Given the description of an element on the screen output the (x, y) to click on. 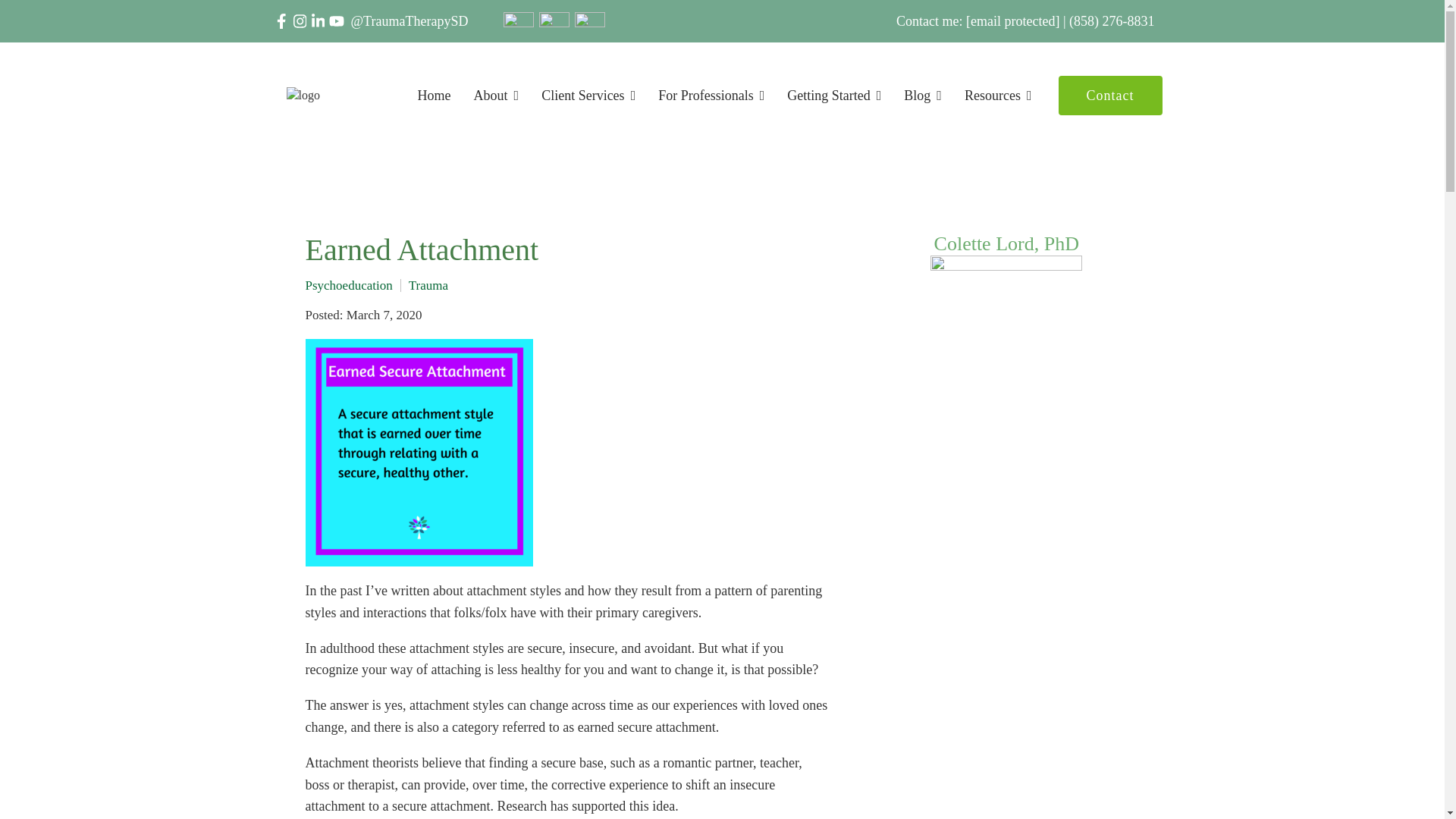
Getting Started (833, 95)
About (496, 95)
For Professionals (711, 95)
Home (434, 95)
Blog (923, 95)
Resources (997, 95)
Client Services (587, 95)
